Given the description of an element on the screen output the (x, y) to click on. 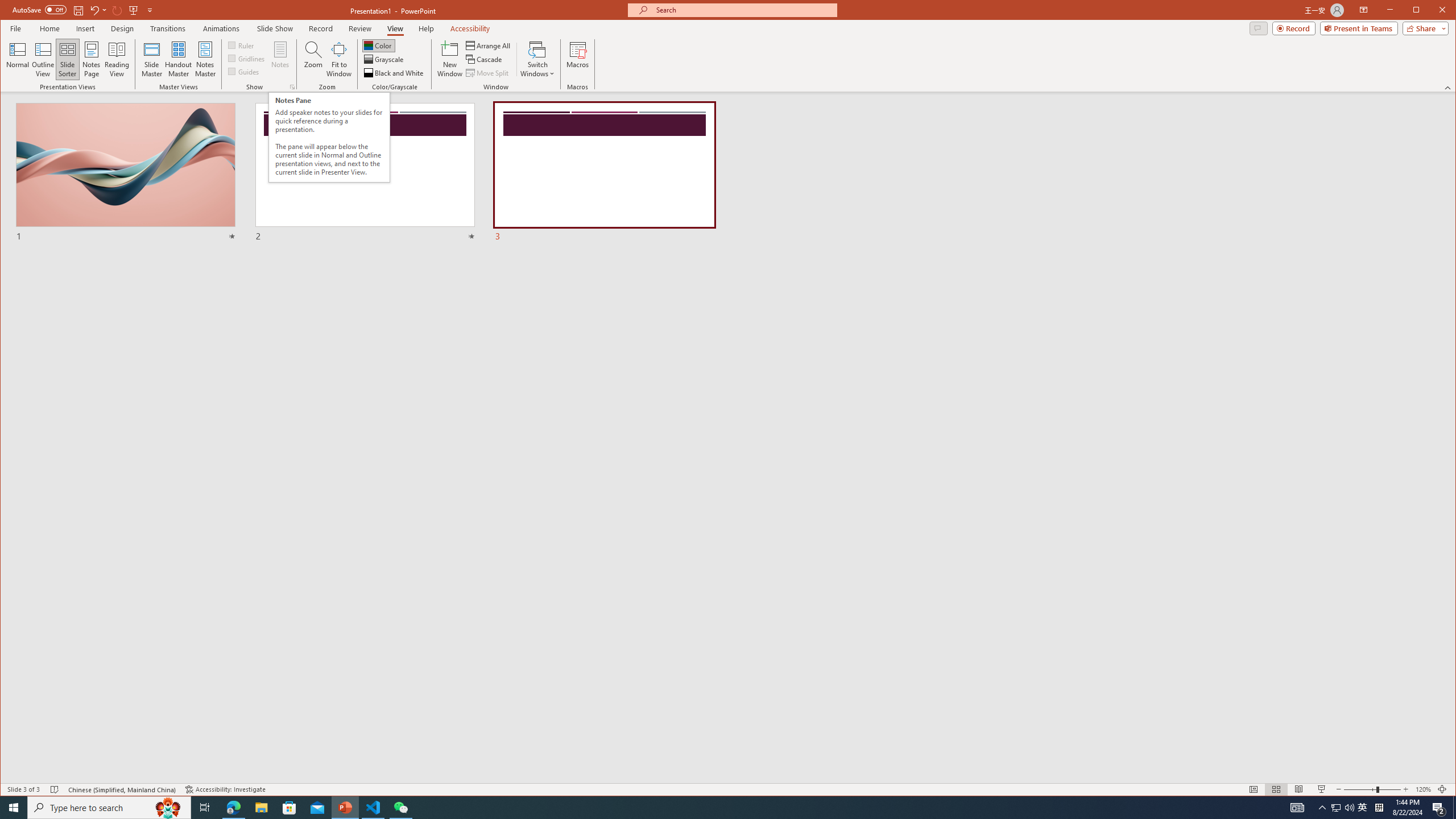
New Window (450, 59)
Zoom... (312, 59)
File Explorer (261, 807)
PowerPoint - 1 running window (345, 807)
Cascade (484, 59)
Macros (576, 59)
